Given the description of an element on the screen output the (x, y) to click on. 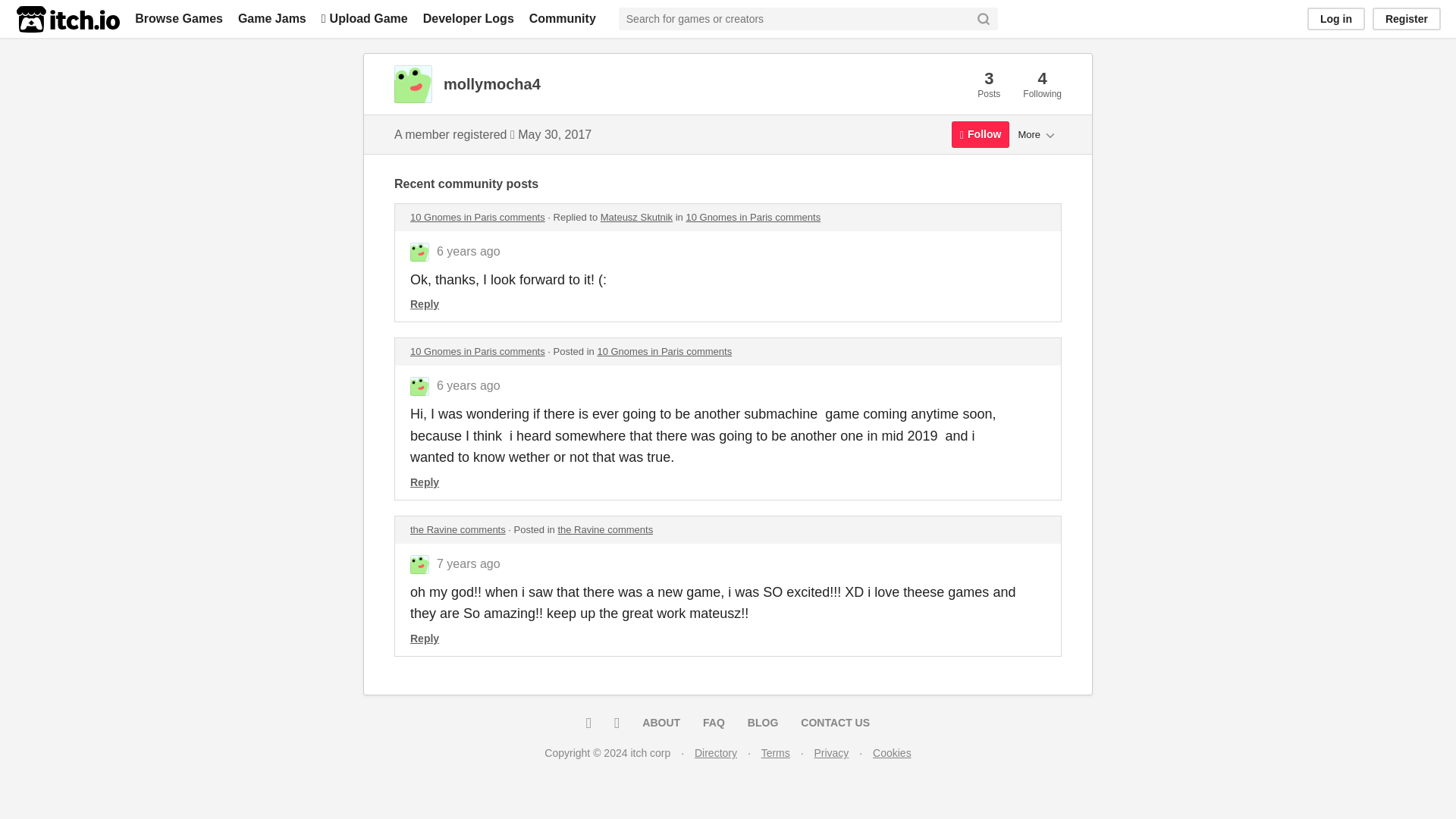
itch.io - indie game hosting marketplace (67, 18)
Browse Games (178, 18)
2017-07-17 06:20:41 (468, 563)
Community (562, 18)
the Ravine comments (457, 529)
Follow (980, 134)
itch.io (67, 18)
Reply (424, 304)
Log in (1336, 18)
Developer Logs (468, 18)
2018-06-23 00:13:19 (468, 250)
More (1037, 134)
Register (1407, 18)
10 Gnomes in Paris comments (477, 351)
10 Gnomes in Paris comments (664, 351)
